Given the description of an element on the screen output the (x, y) to click on. 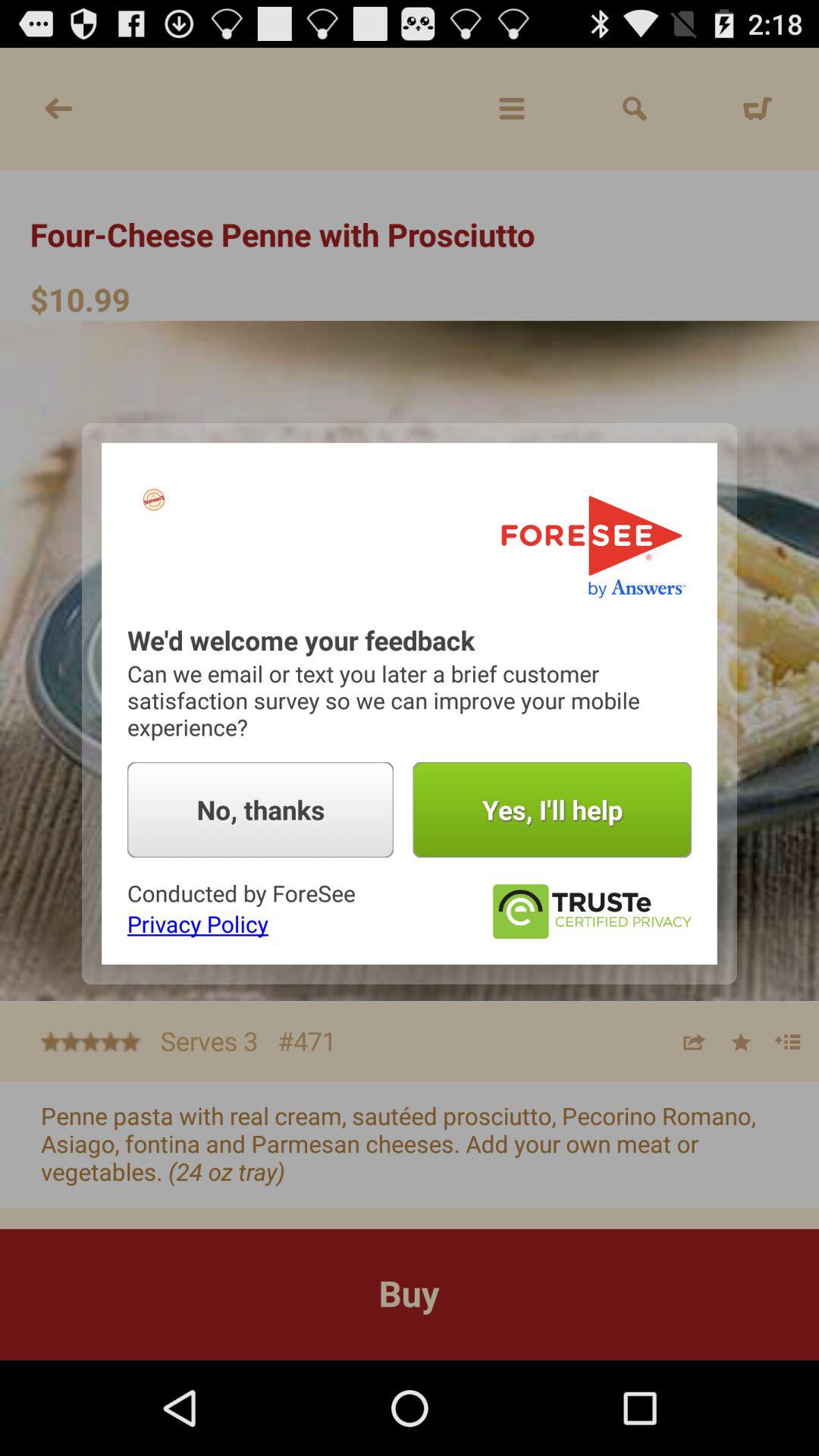
turn off item above the conducted by foresee item (260, 809)
